Given the description of an element on the screen output the (x, y) to click on. 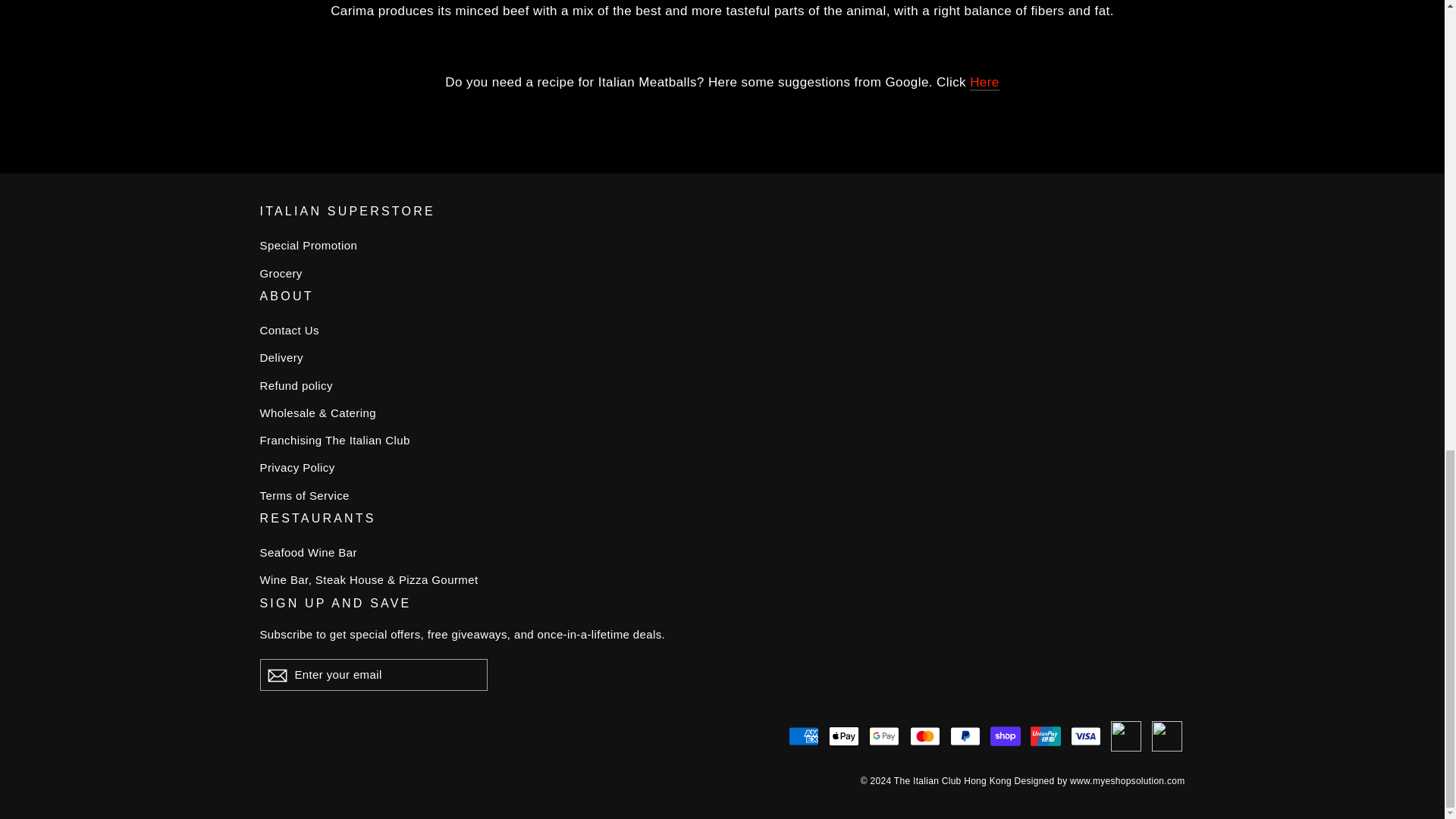
Spezzatino Recipes (983, 82)
Shop Pay (1005, 736)
Mastercard (925, 736)
PayPal (964, 736)
Visa (1085, 736)
Google Pay (884, 736)
American Express (803, 736)
Apple Pay (843, 736)
Union Pay (1045, 736)
